Given the description of an element on the screen output the (x, y) to click on. 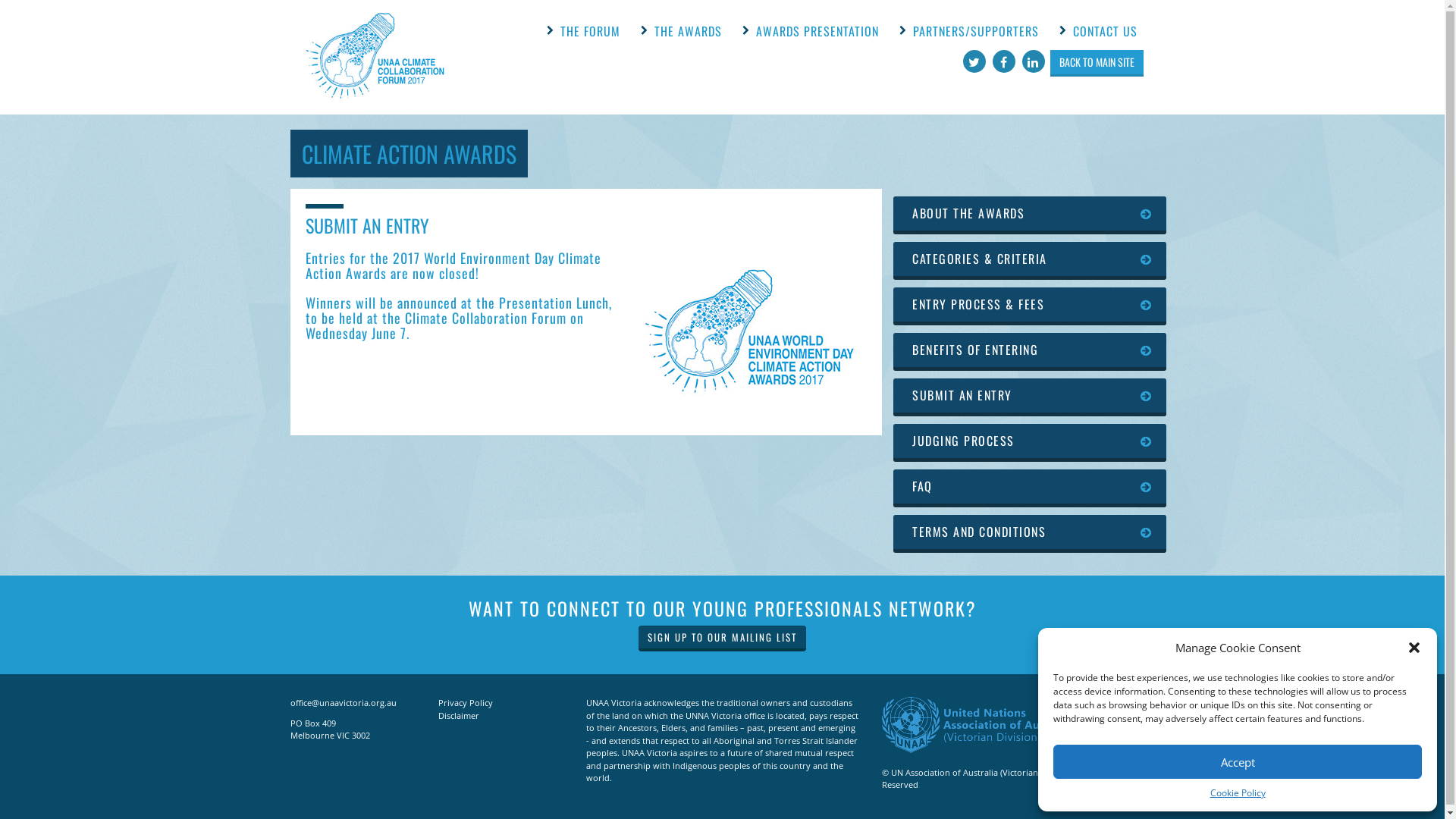
TERMS AND CONDITIONS Element type: text (1029, 533)
BENEFITS OF ENTERING Element type: text (1029, 351)
CONTACT US Element type: text (1104, 30)
THE FORUM Element type: text (589, 30)
JUDGING PROCESS Element type: text (1029, 442)
SUBMIT AN ENTRY Element type: text (1029, 397)
THE AWARDS Element type: text (687, 30)
ENTRY PROCESS & FEES Element type: text (1029, 306)
ABOUT THE AWARDS Element type: text (1029, 215)
Disclaimer Element type: text (458, 715)
Sign Up To Our Mailing List Element type: text (722, 638)
AWARDS PRESENTATION Element type: text (816, 30)
CATEGORIES & CRITERIA Element type: text (1029, 260)
PARTNERS/SUPPORTERS Element type: text (975, 30)
Cookie Policy Element type: text (1237, 793)
Accept Element type: text (1237, 761)
FAQ Element type: text (1029, 488)
BACK TO MAIN SITE Element type: text (1095, 61)
BACK TO MAIN SITE Element type: text (1095, 63)
Privacy Policy Element type: text (465, 702)
